Given the description of an element on the screen output the (x, y) to click on. 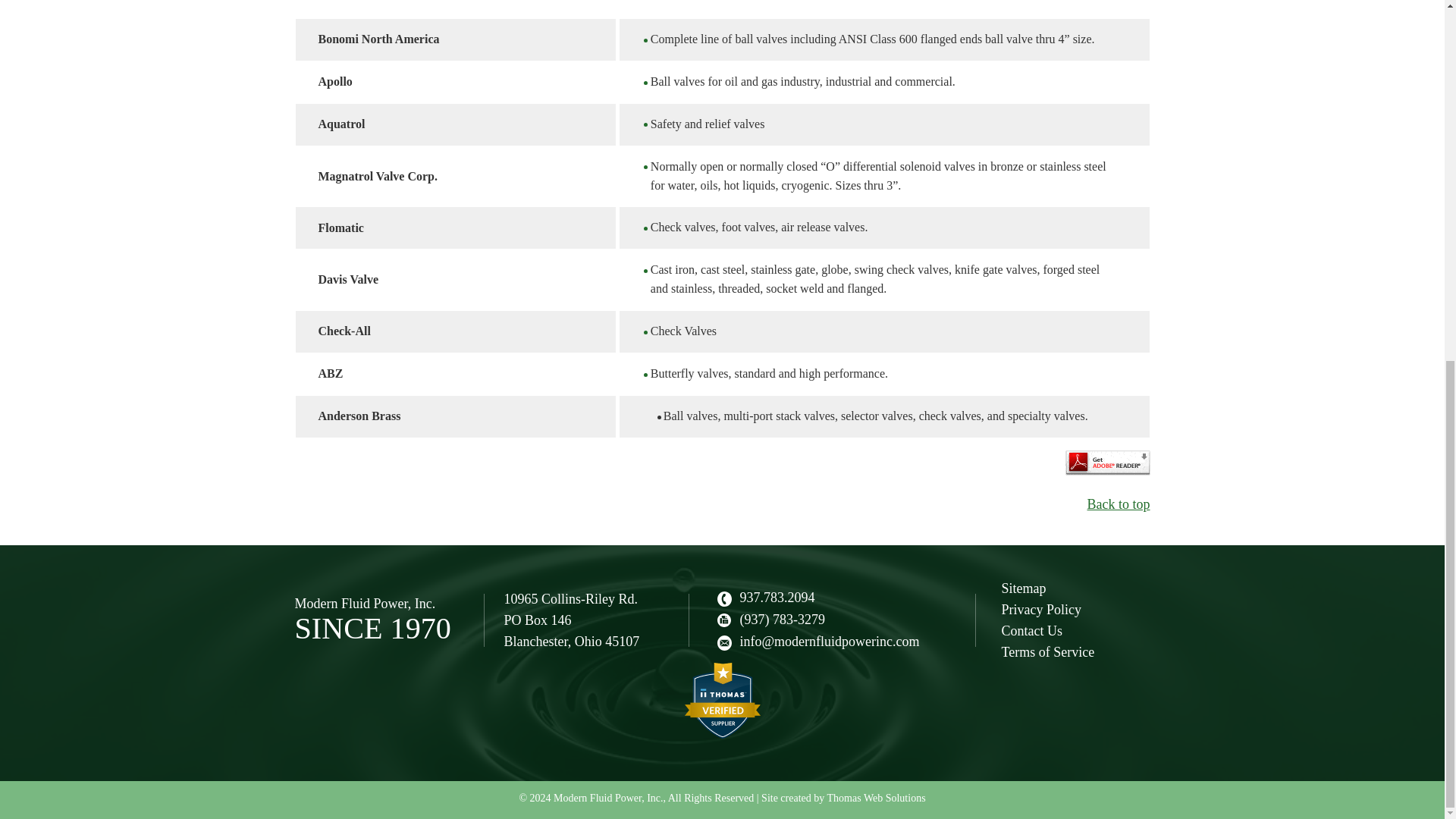
Get Adobe Reader (1107, 462)
